Given the description of an element on the screen output the (x, y) to click on. 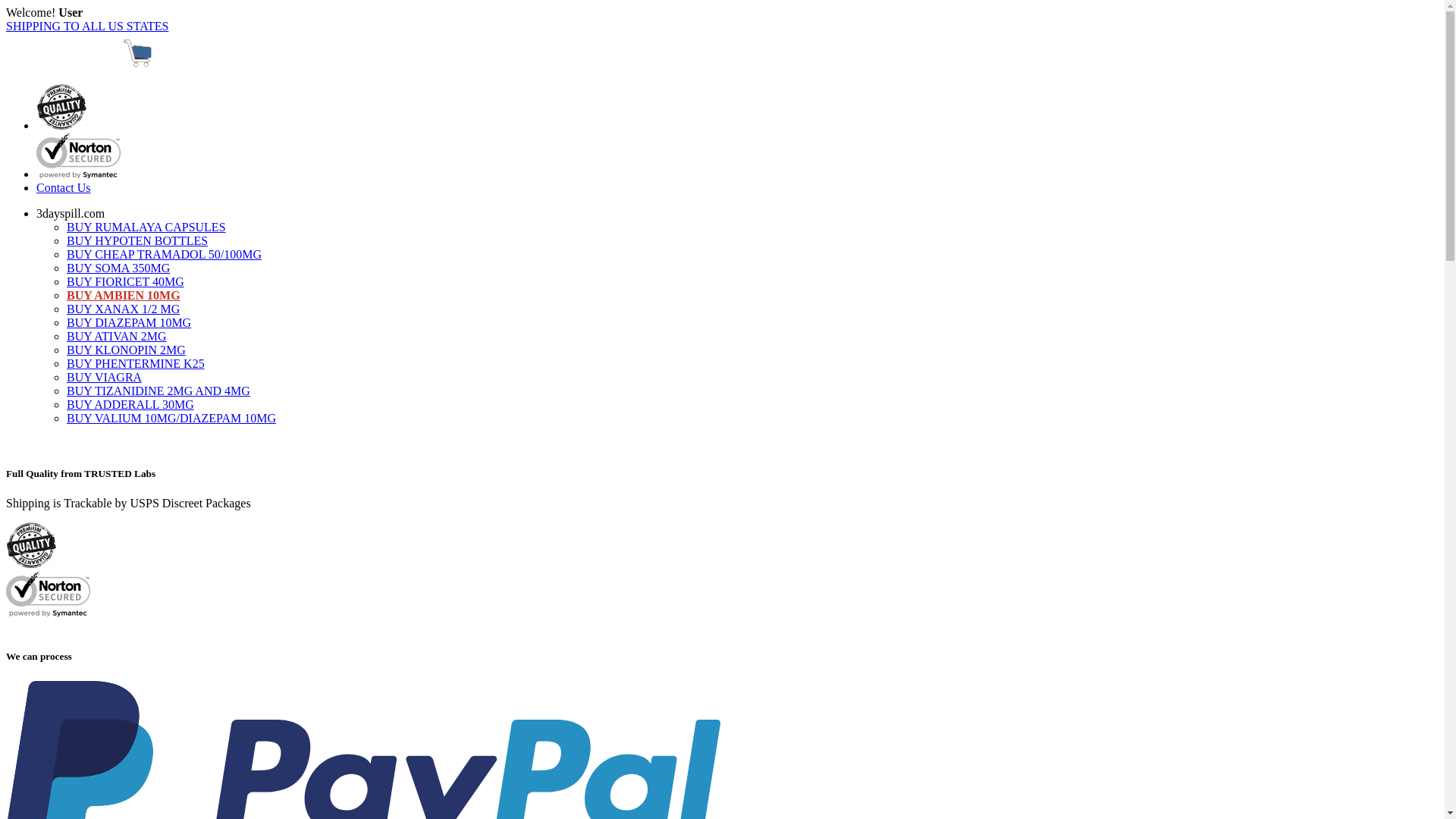
BUY ATIVAN 2MG Element type: text (116, 335)
BUY DIAZEPAM 10MG Element type: text (128, 322)
BUY SOMA 350MG Element type: text (117, 267)
BUY XANAX 1/2 MG Element type: text (122, 308)
BUY VALIUM 10MG/DIAZEPAM 10MG Element type: text (171, 417)
BUY RUMALAYA CAPSULES Element type: text (145, 226)
BUY AMBIEN 10MG Element type: text (123, 294)
Contact Us Element type: text (63, 187)
BUY PHENTERMINE K25 Element type: text (135, 363)
BUY VIAGRA Element type: text (103, 376)
SHIPPING TO ALL US STATES Element type: text (87, 25)
BUY TIZANIDINE 2MG AND 4MG Element type: text (158, 390)
BUY ADDERALL 30MG Element type: text (130, 404)
BUY FIORICET 40MG Element type: text (125, 281)
BUY CHEAP TRAMADOL 50/100MG Element type: text (163, 253)
3dayspill.com Element type: text (70, 213)
BUY KLONOPIN 2MG Element type: text (125, 349)
BUY HYPOTEN BOTTLES Element type: text (136, 240)
